Given the description of an element on the screen output the (x, y) to click on. 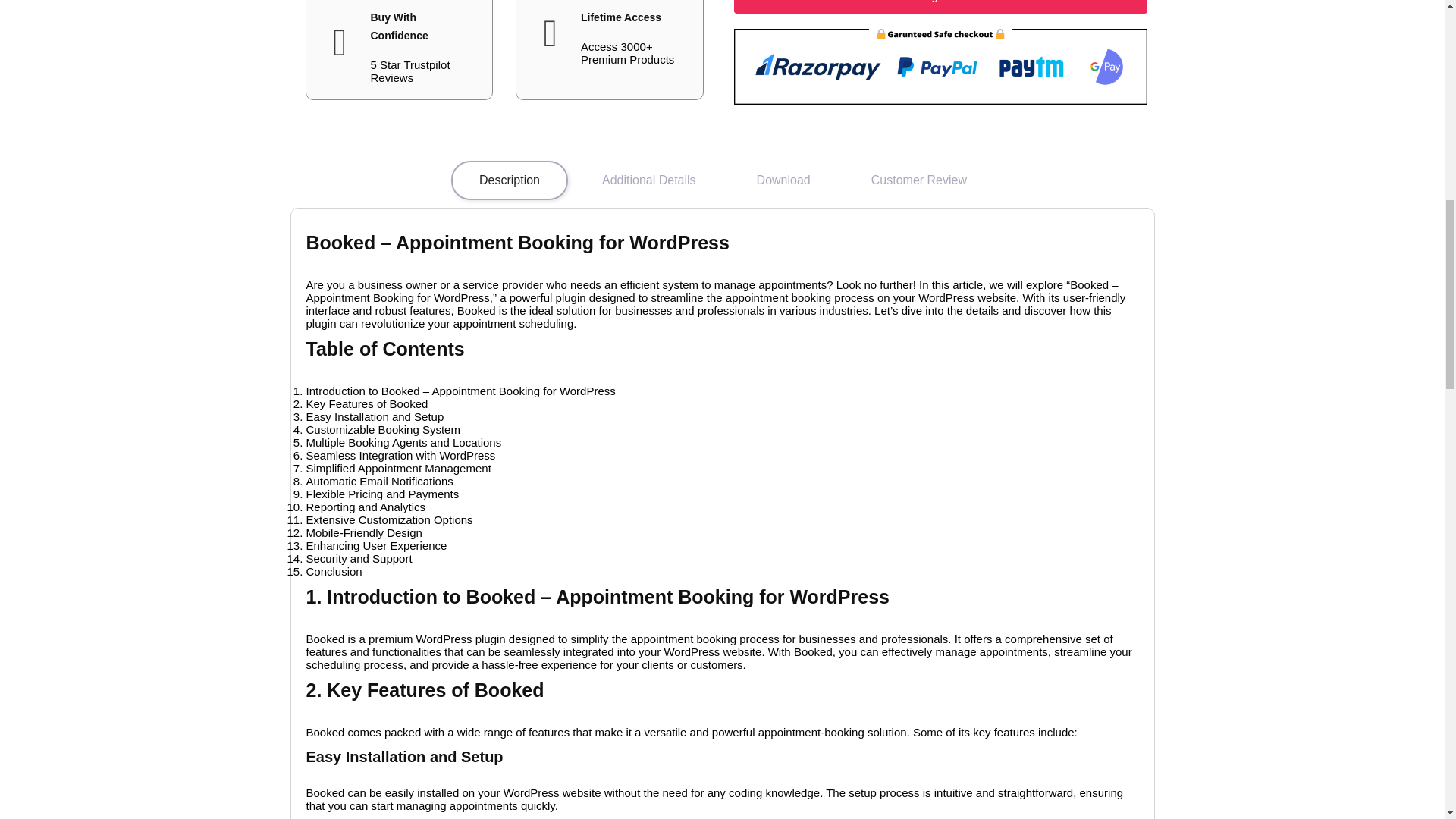
Additional Details (648, 179)
Download (783, 179)
Lifetime Access (620, 17)
Description (509, 179)
Buy With Confidence (398, 26)
Join Telegram Channel (940, 6)
Customer Review (918, 179)
